Given the description of an element on the screen output the (x, y) to click on. 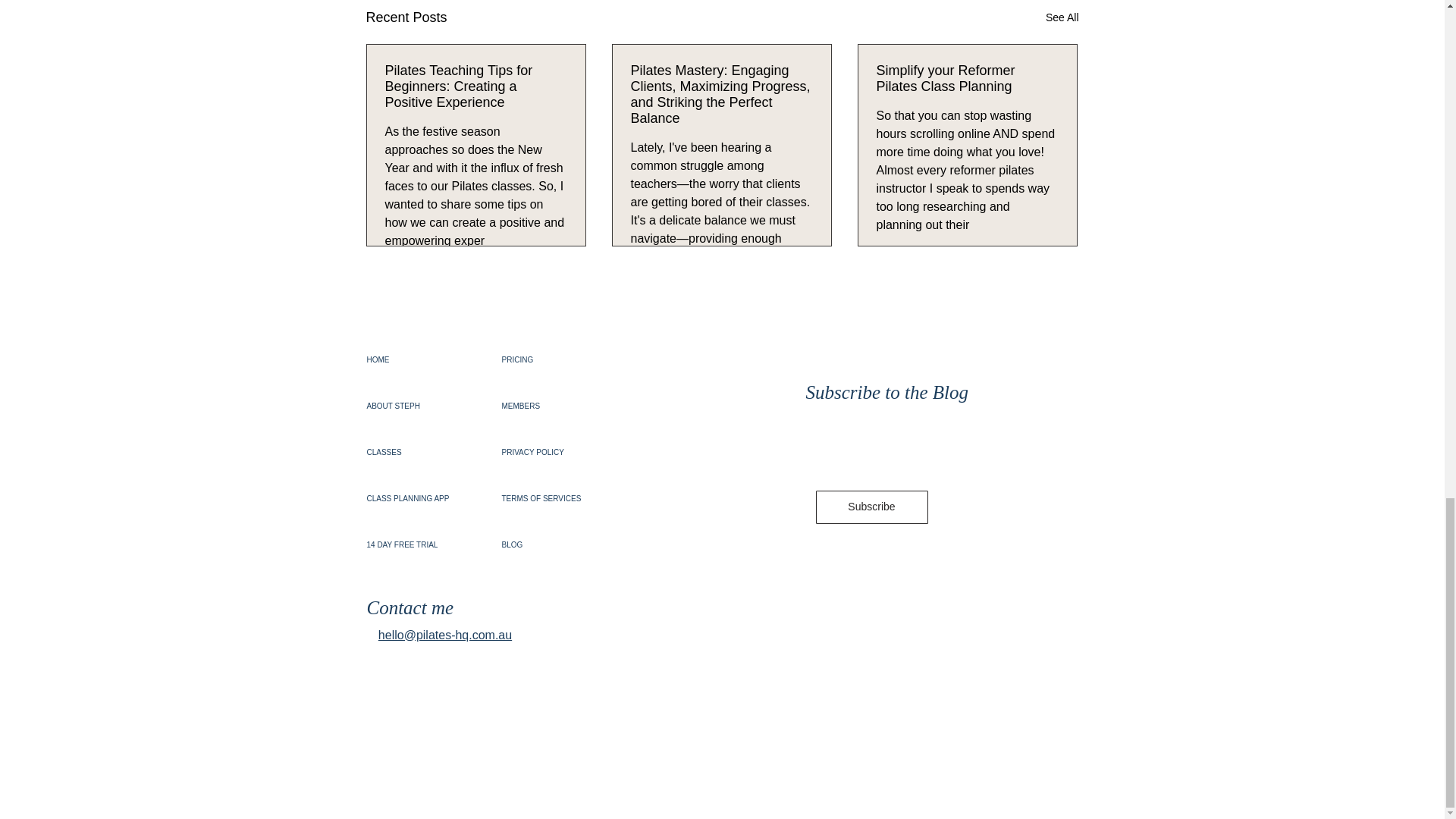
TERMS OF SERVICES (555, 497)
CLASSES (420, 452)
BLOG (555, 544)
MEMBERS (555, 405)
CLASS PLANNING APP (420, 497)
PRICING (555, 359)
14 DAY FREE TRIAL (420, 544)
ABOUT STEPH (420, 405)
PRIVACY POLICY (555, 452)
Simplify your Reformer Pilates Class Planning (967, 78)
See All (1061, 16)
HOME (420, 359)
